Given the description of an element on the screen output the (x, y) to click on. 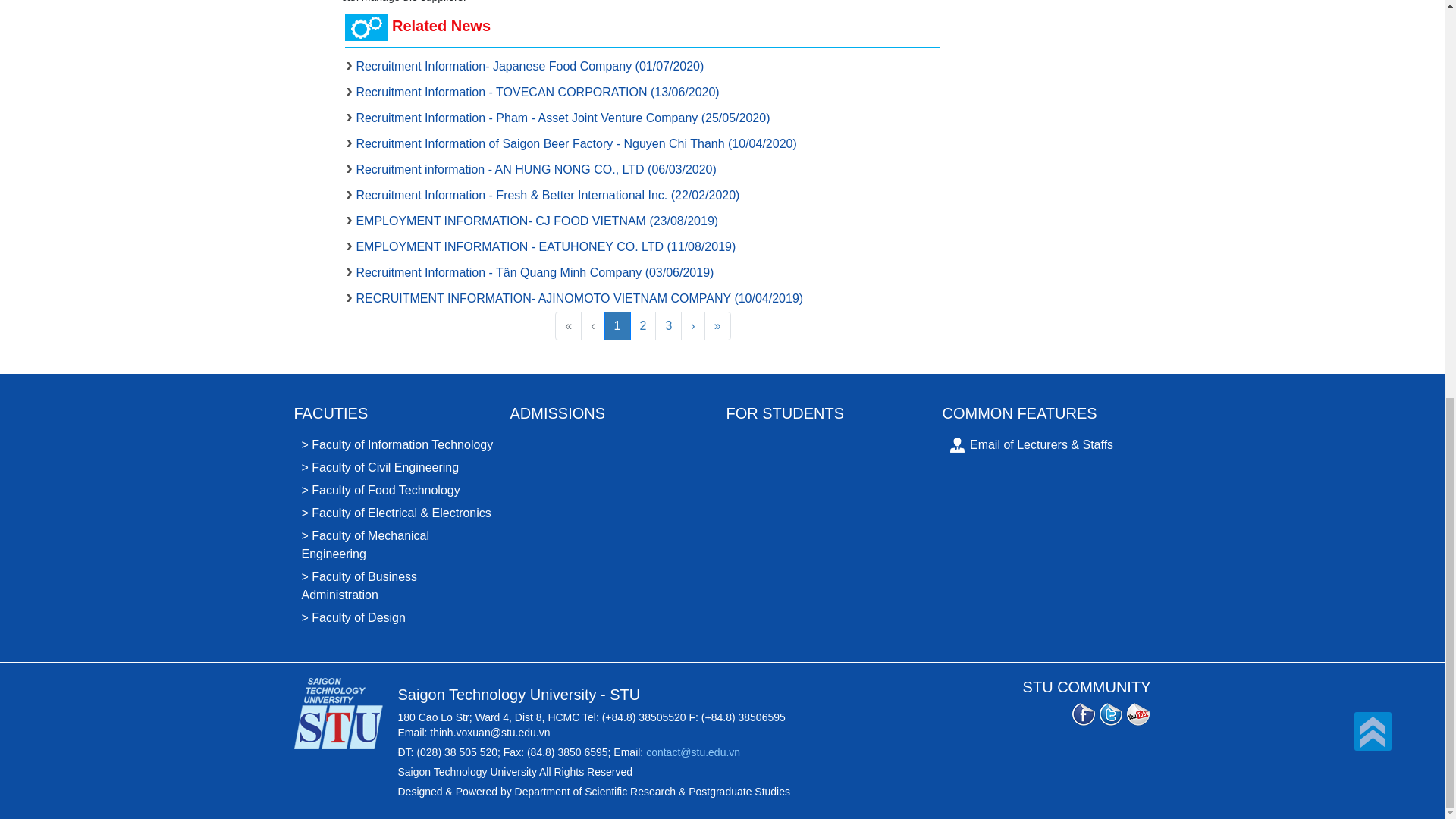
Recruitment Information - Pham - Asset Joint Venture Company (562, 117)
Recruitment Information - TOVECAN CORPORATION (537, 91)
RECRUITMENT INFORMATION- AJINOMOTO VIETNAM COMPANY (579, 297)
Recruitment Information- Japanese Food Company (529, 65)
EMPLOYMENT INFORMATION - EATUHONEY CO. LTD (545, 246)
Saigon Technology University (345, 713)
Recruitment information - AN HUNG NONG CO., LTD (535, 169)
EMPLOYMENT INFORMATION- CJ FOOD VIETNAM (536, 220)
